Given the description of an element on the screen output the (x, y) to click on. 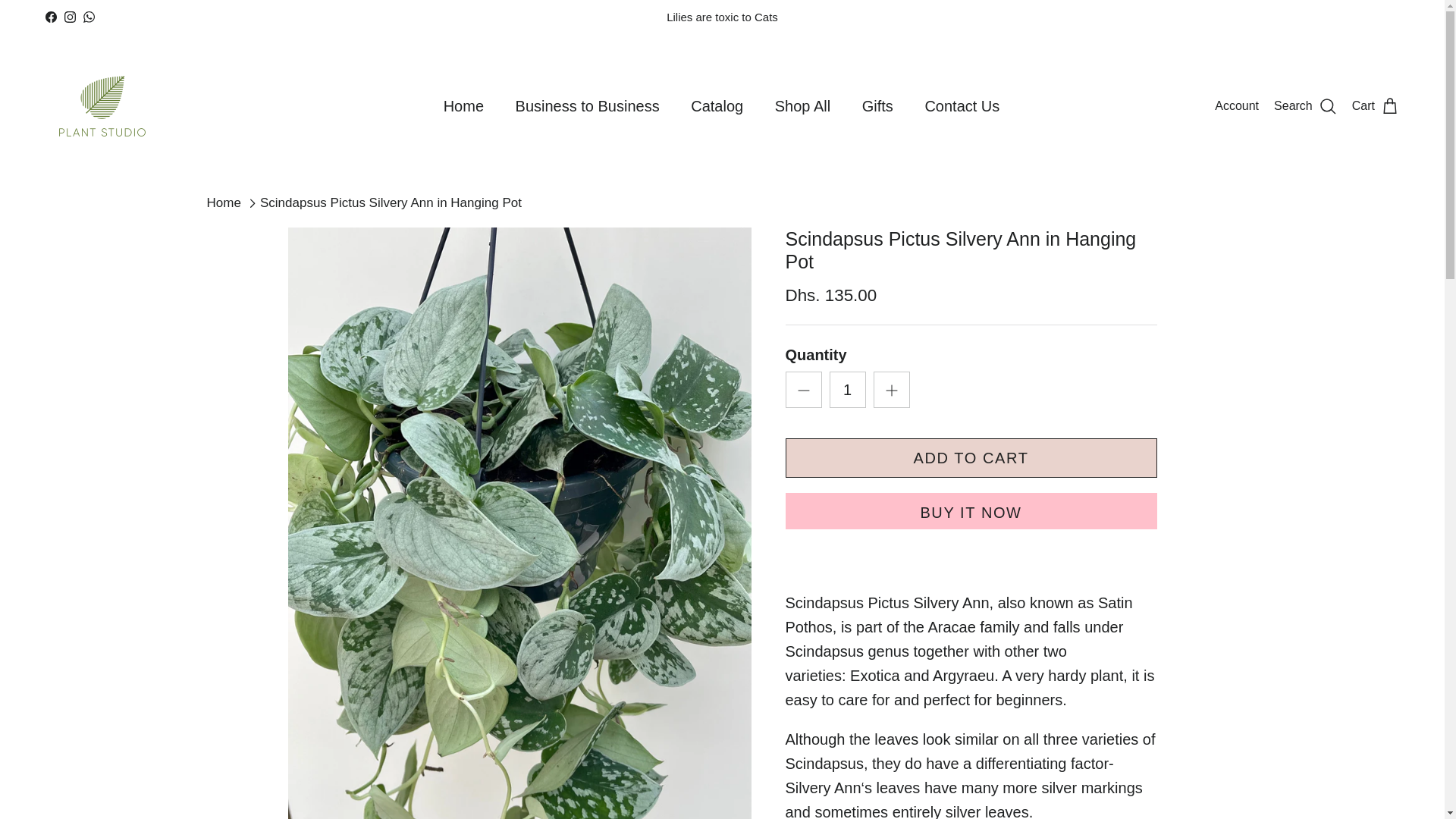
Catalog (717, 105)
Contact Us (962, 105)
Account (1236, 106)
1 (847, 389)
Business to Business (587, 105)
Cart (1375, 106)
Gifts (877, 105)
Shop All (802, 105)
Home (463, 105)
Instagram (69, 16)
